Given the description of an element on the screen output the (x, y) to click on. 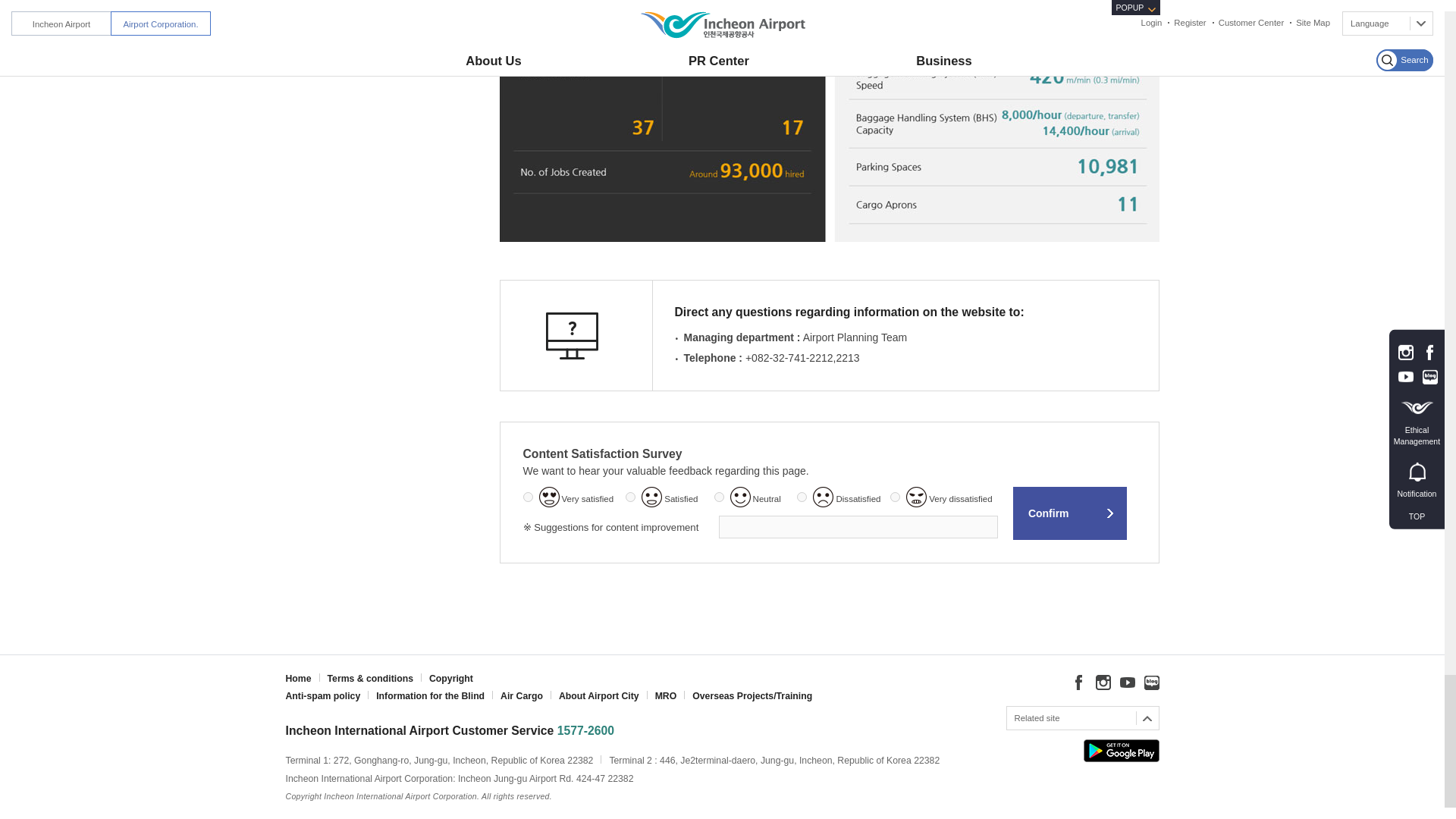
5 (894, 497)
1 (527, 497)
3 (718, 497)
4 (801, 497)
2 (630, 497)
